Given the description of an element on the screen output the (x, y) to click on. 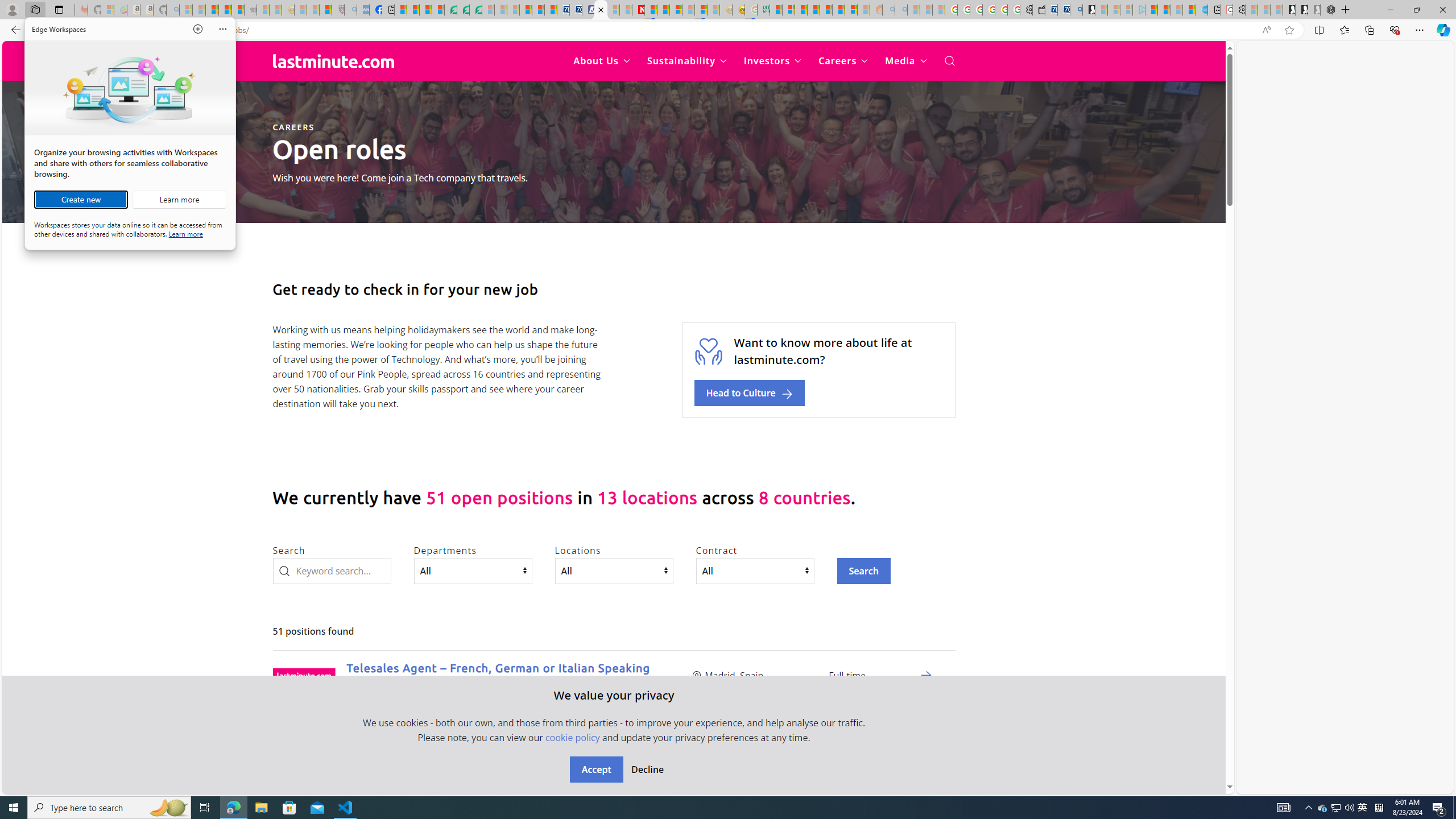
Accept (596, 769)
Read full details about role: Full Stack Engineer (925, 776)
Learn more about Workspaces privacy (185, 233)
Media (906, 60)
